Given the description of an element on the screen output the (x, y) to click on. 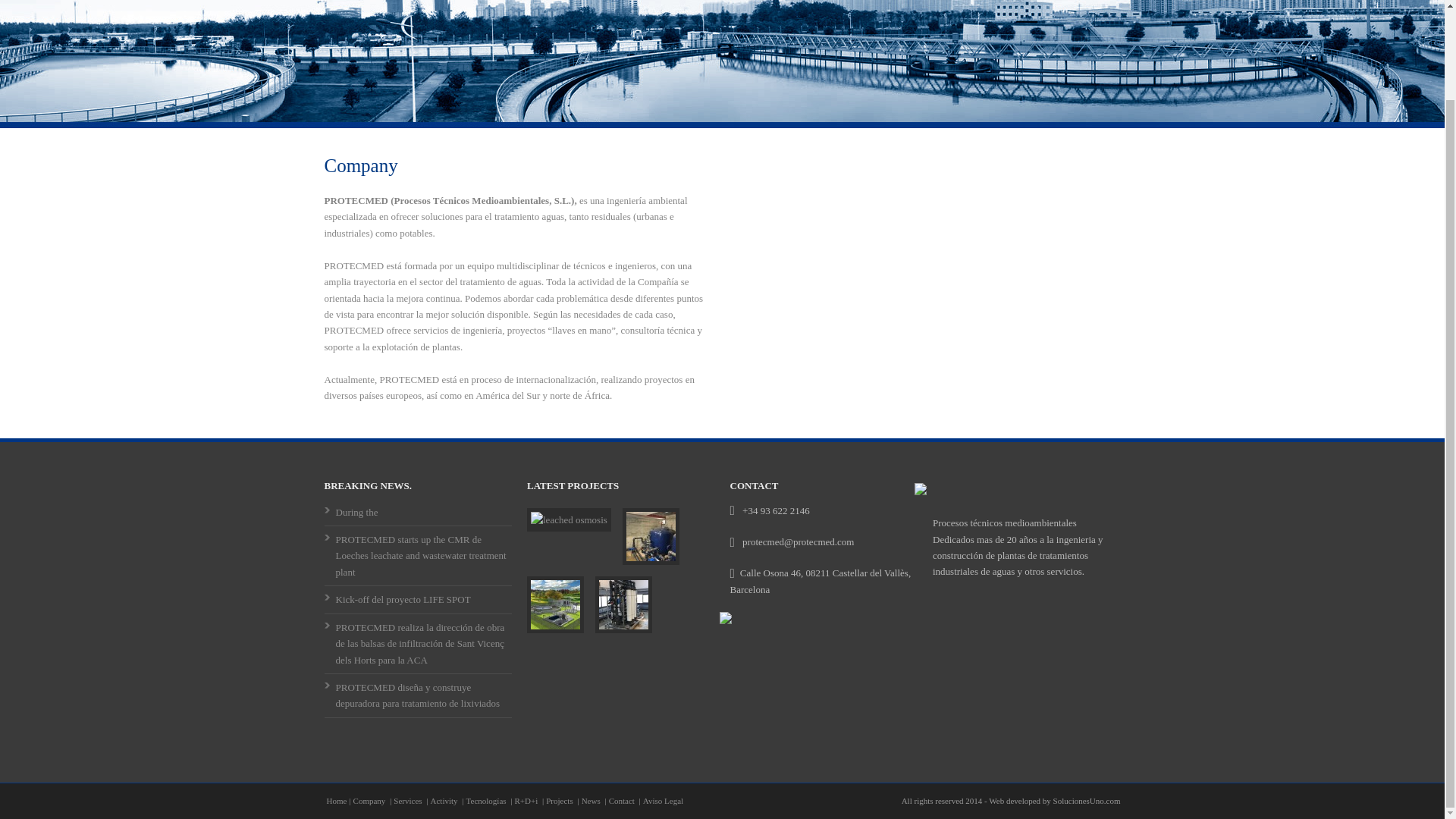
News (591, 800)
Projects (560, 800)
Services (408, 800)
Activity (445, 800)
Contact (622, 800)
During the (355, 511)
Company (370, 800)
Aviso Legal (662, 800)
Home (336, 800)
